Given the description of an element on the screen output the (x, y) to click on. 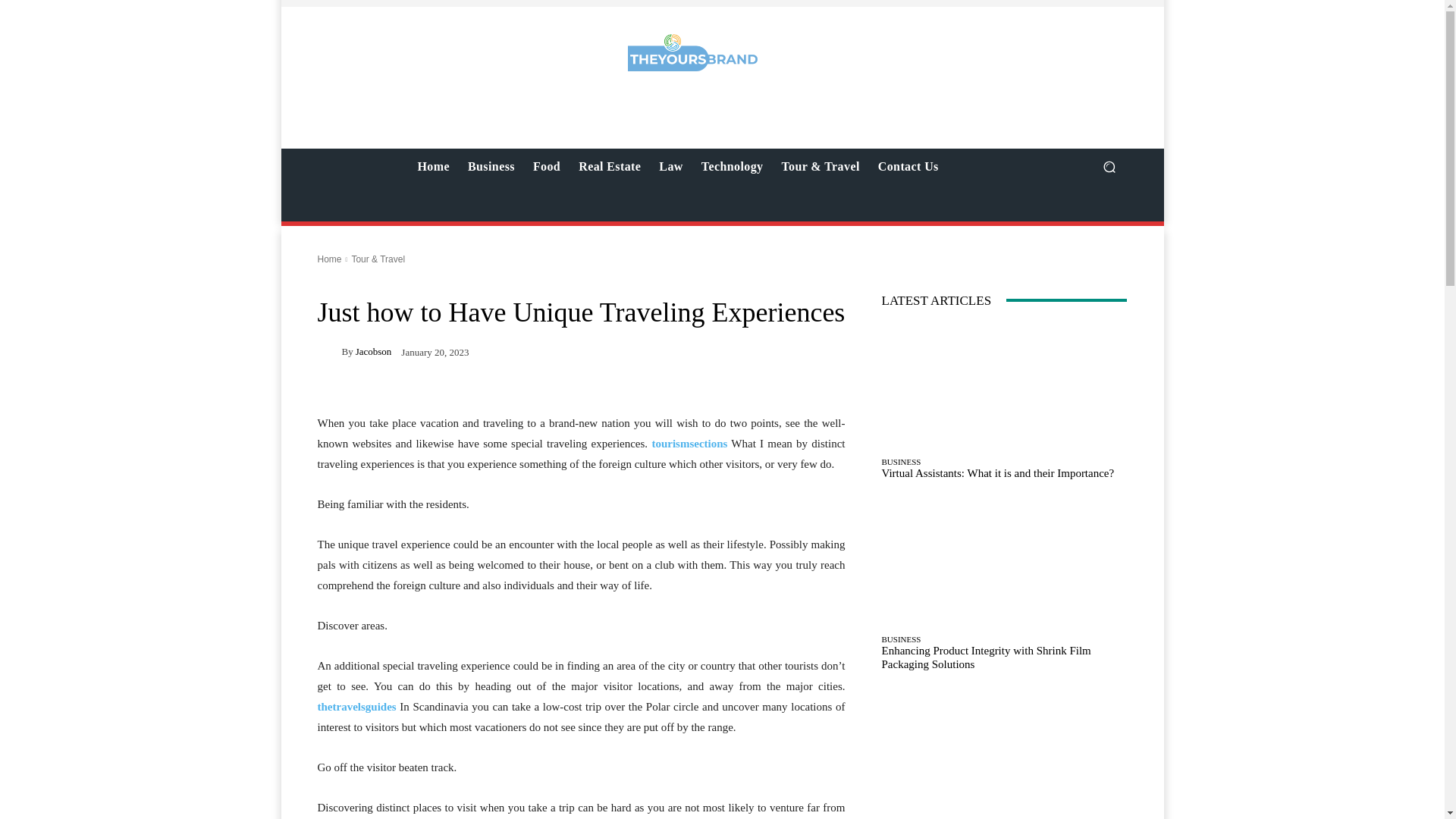
Food (546, 166)
Contact Us (908, 166)
Jacobson (373, 351)
Technology (733, 166)
Jacobson (328, 351)
Law (670, 166)
Virtual Assistants: What it is and their Importance? (1003, 386)
Business (491, 166)
Home (432, 166)
Home (328, 258)
Virtual Assistants: What it is and their Importance? (996, 472)
tourismsections (688, 443)
Real Estate (609, 166)
thetravelsguides (356, 706)
